Given the description of an element on the screen output the (x, y) to click on. 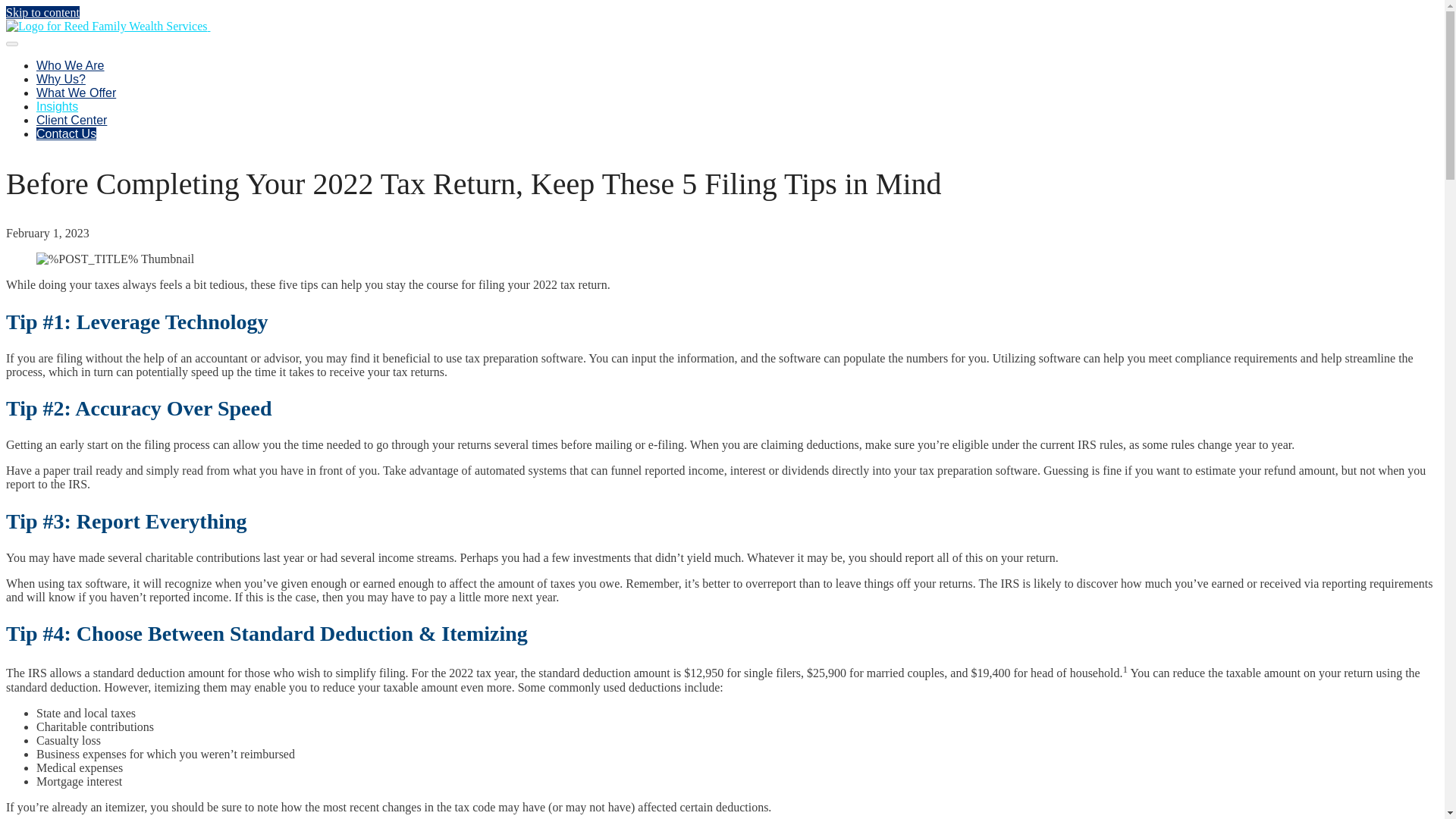
Contact Us (66, 133)
Client Center (71, 119)
What We Offer (76, 92)
Skip to content (42, 11)
Why Us? (60, 78)
Who We Are (70, 65)
Insights (57, 106)
